Given the description of an element on the screen output the (x, y) to click on. 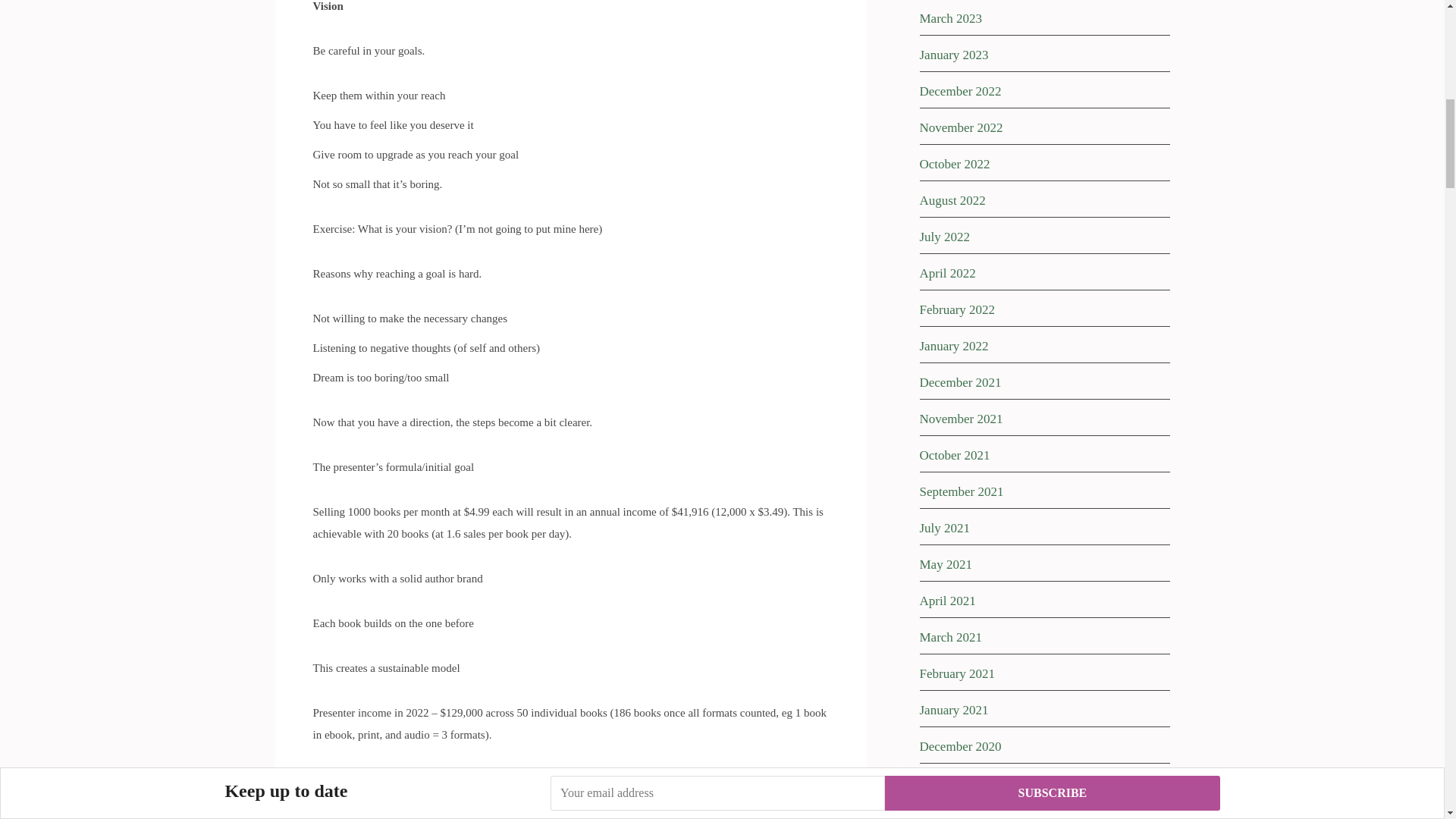
March 2023 (949, 18)
August 2022 (951, 200)
December 2022 (959, 91)
January 2023 (953, 54)
November 2022 (960, 127)
July 2022 (943, 237)
October 2022 (954, 164)
